Given the description of an element on the screen output the (x, y) to click on. 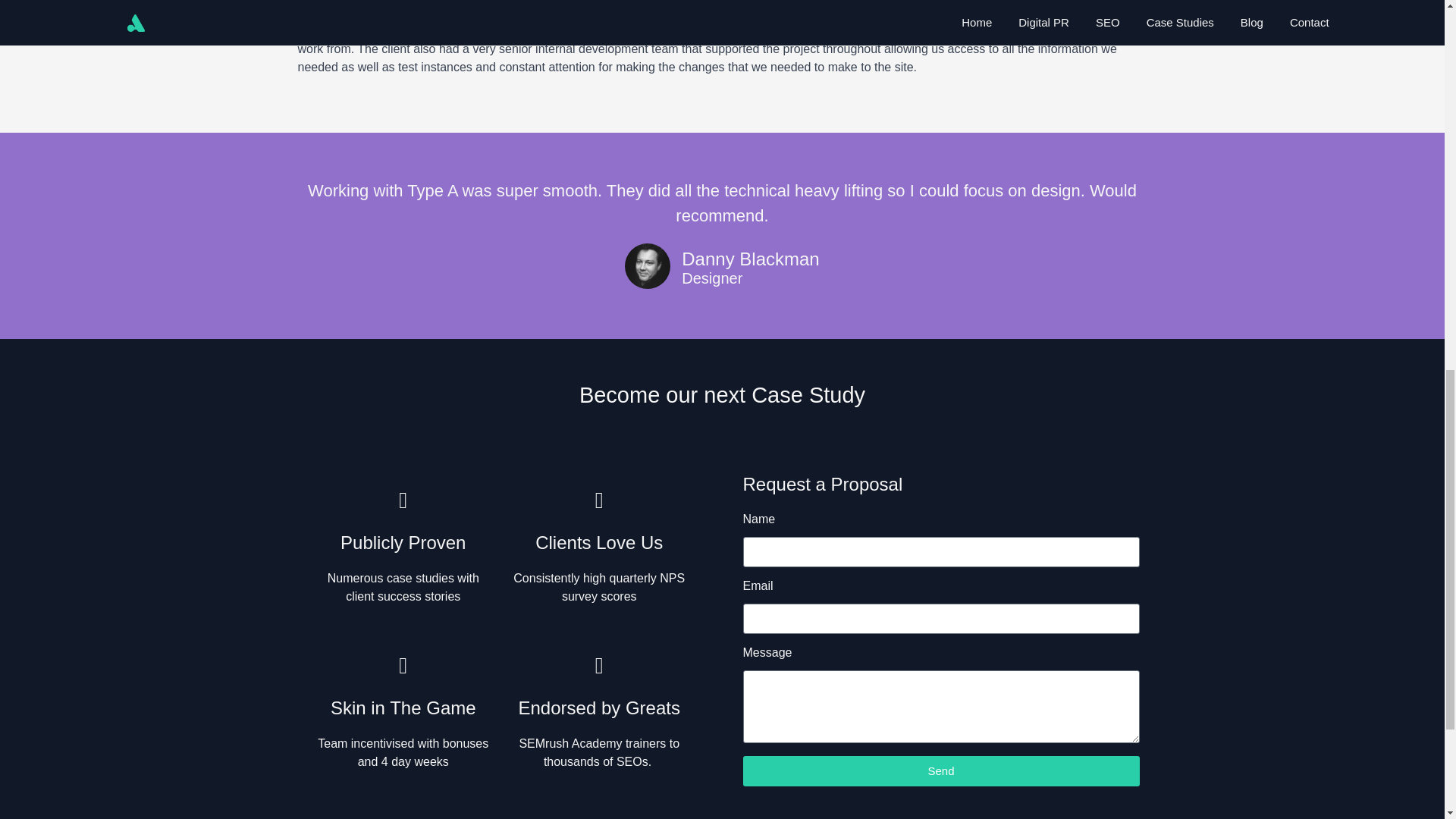
Send (941, 770)
